Given the description of an element on the screen output the (x, y) to click on. 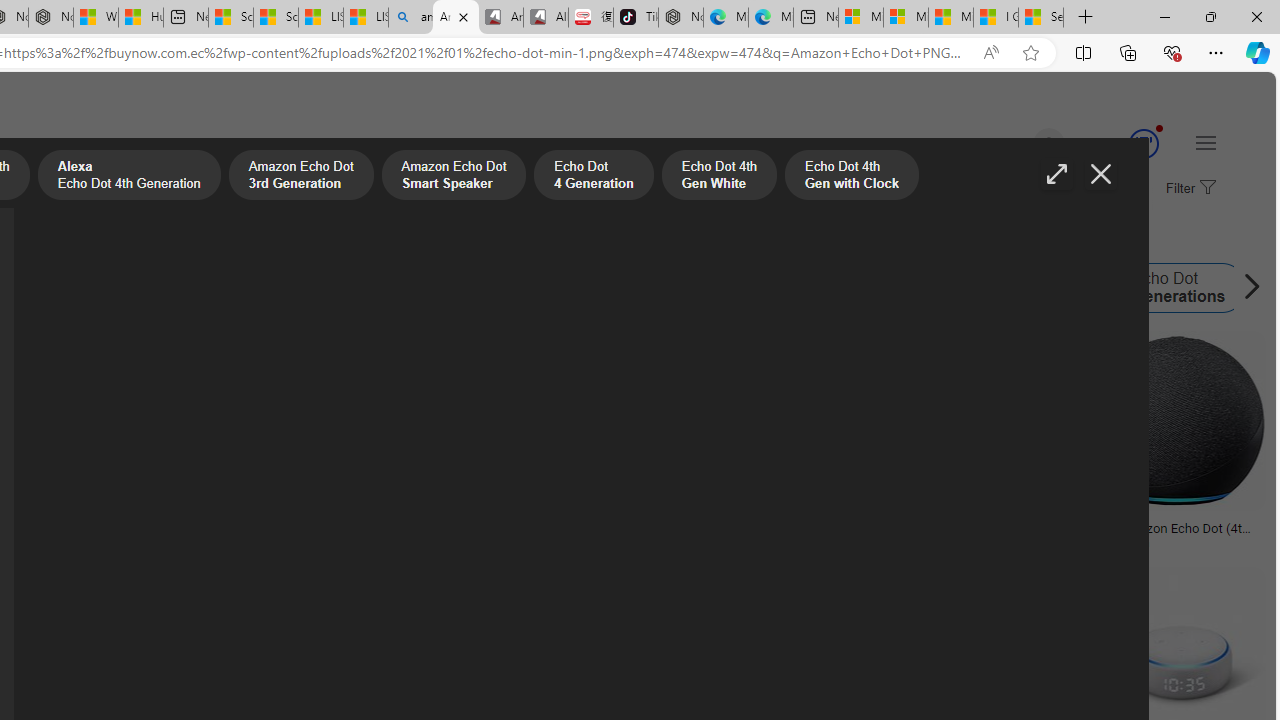
Filter (1188, 189)
Eugene (1019, 143)
croma.com (1176, 542)
pngkey.com (544, 541)
Class: item col (1161, 287)
tpsearchtool.com (976, 542)
